Given the description of an element on the screen output the (x, y) to click on. 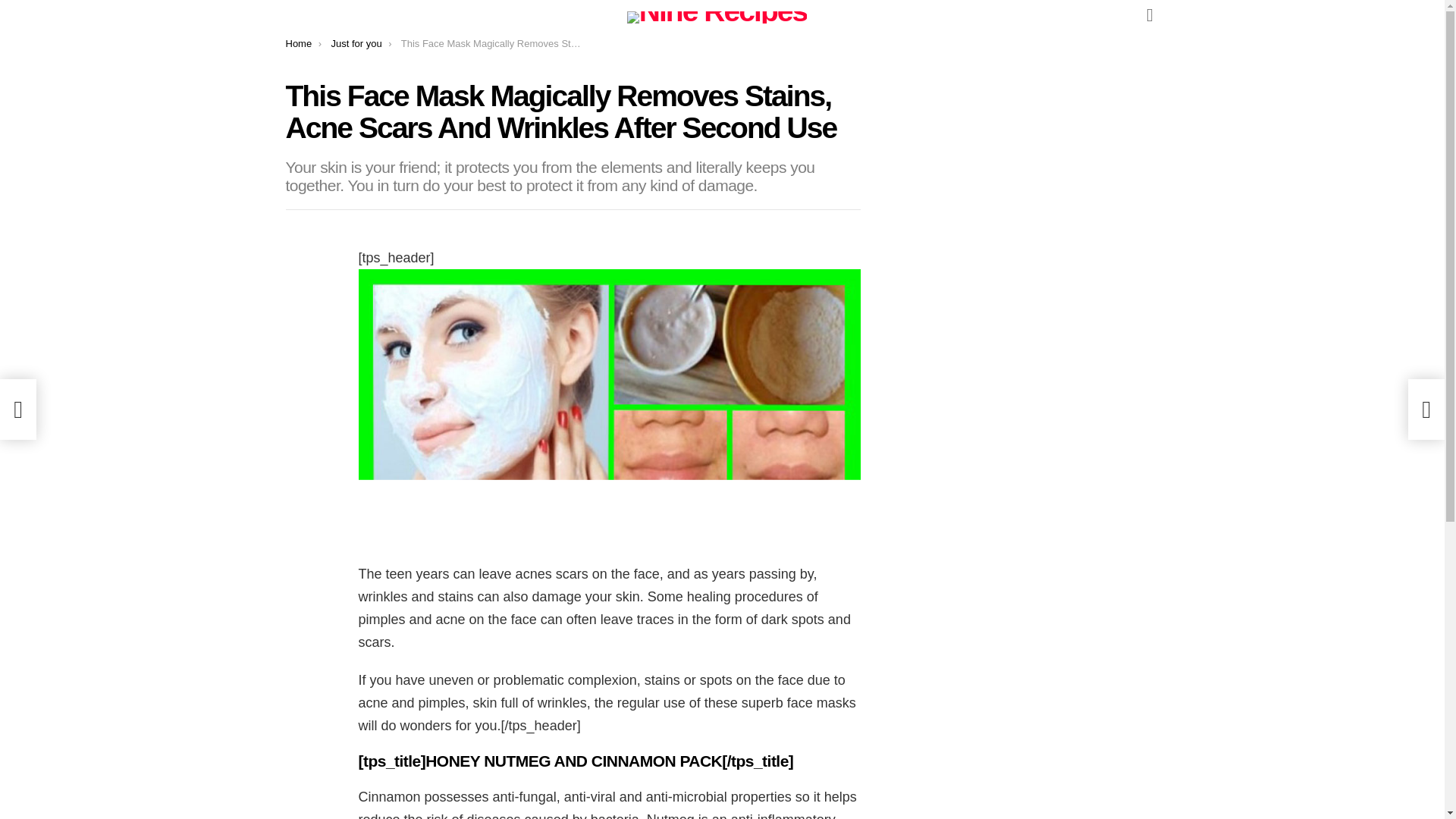
Home (298, 43)
Just for you (355, 43)
